Given the description of an element on the screen output the (x, y) to click on. 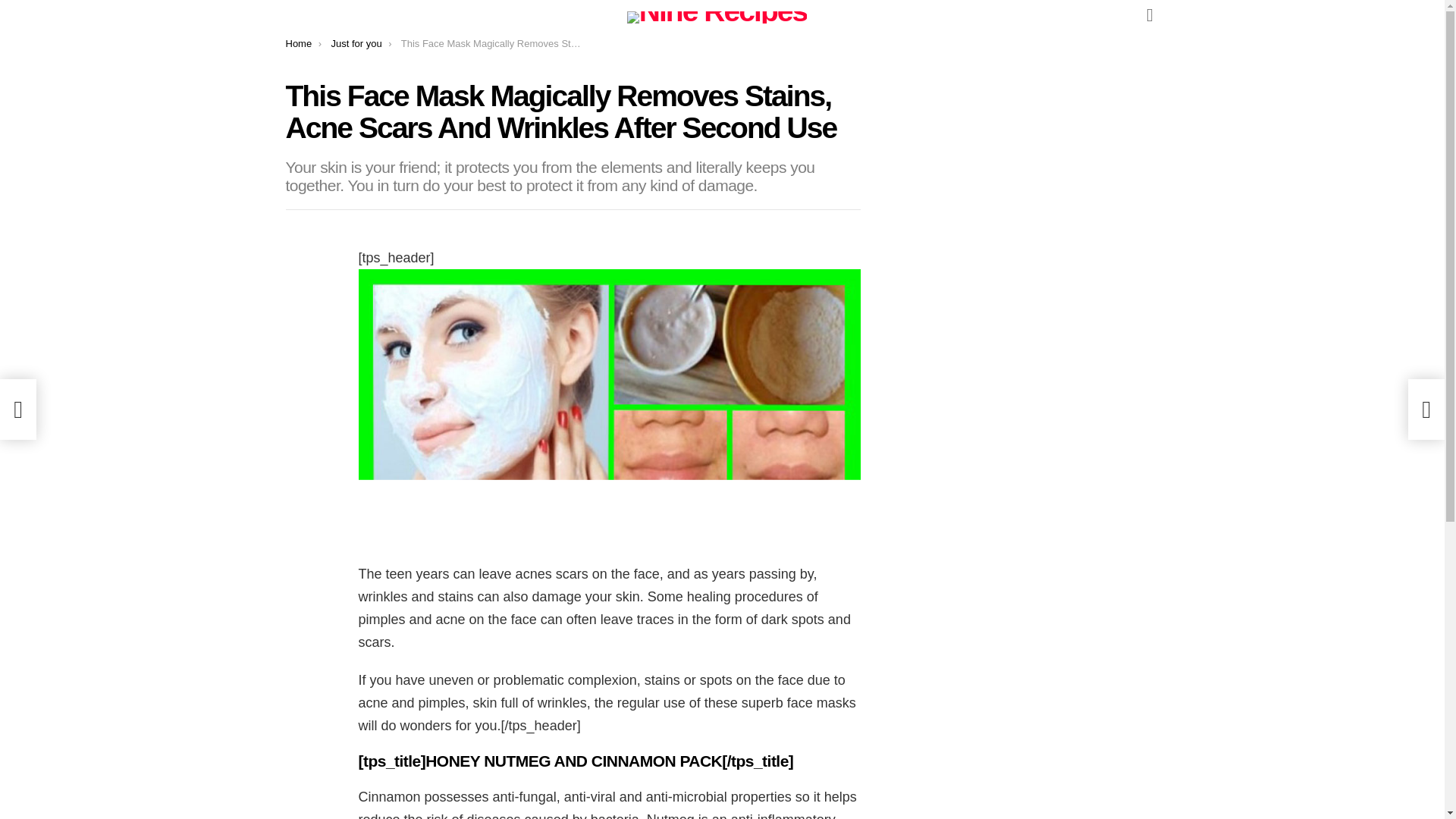
Home (298, 43)
Just for you (355, 43)
